Given the description of an element on the screen output the (x, y) to click on. 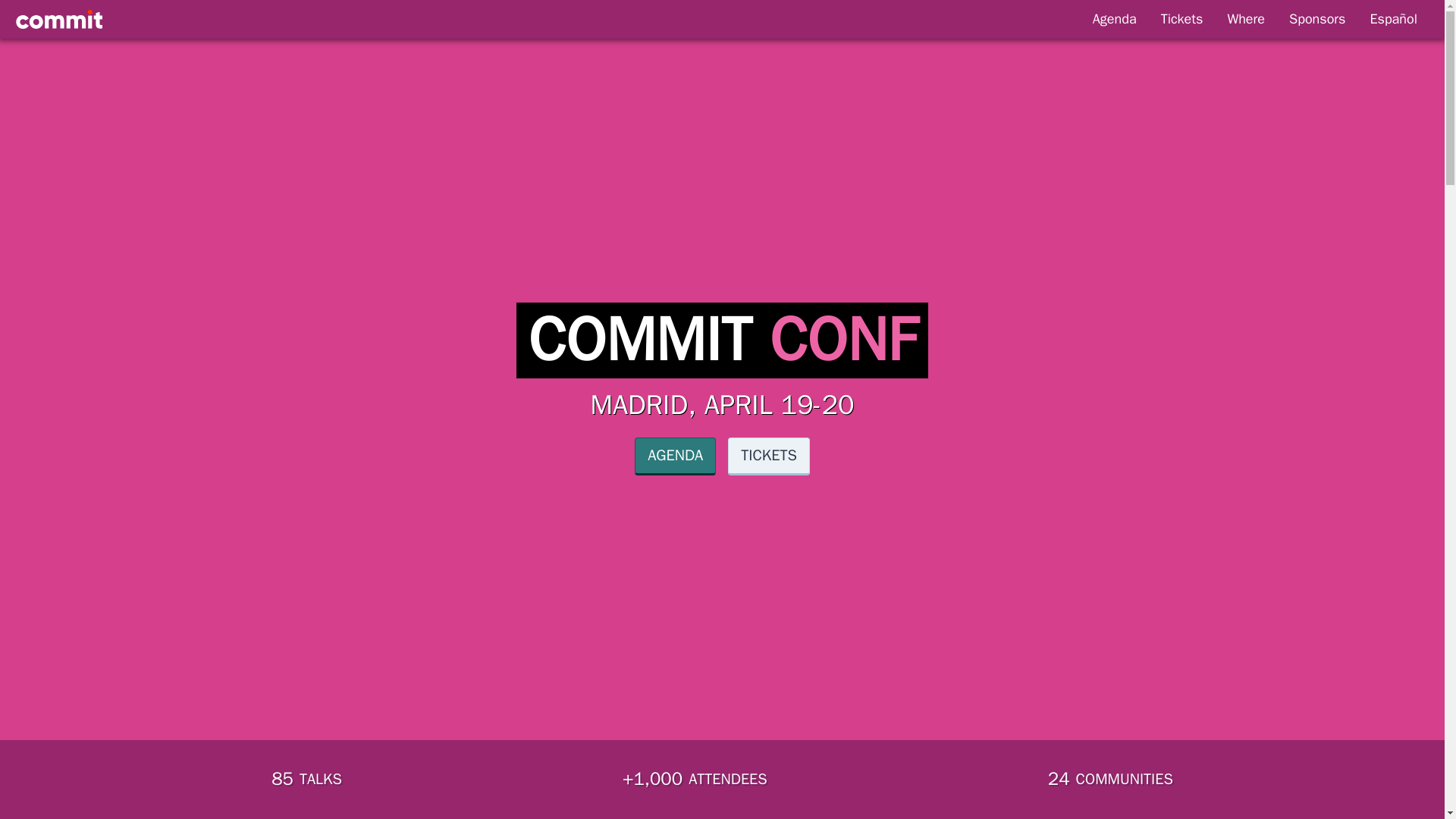
AGENDA (675, 456)
Agenda (1114, 19)
Tickets (1181, 19)
TICKETS (768, 456)
Where (1245, 19)
Sponsors (1316, 19)
